Given the description of an element on the screen output the (x, y) to click on. 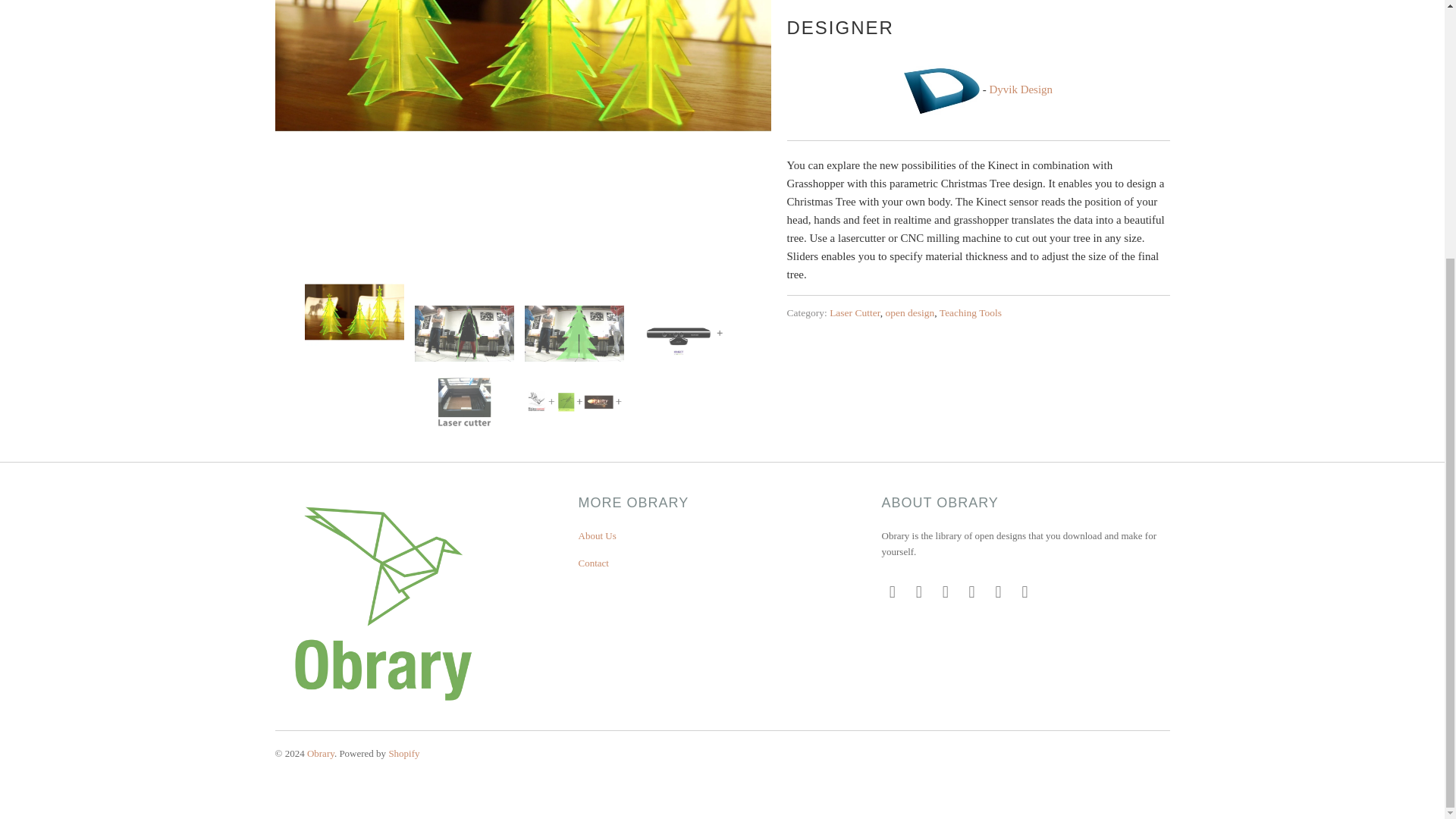
Teaching Tools (970, 312)
open design (909, 312)
Obrary on Pinterest (972, 592)
Obrary on Facebook (918, 592)
About Us (596, 535)
Email Obrary (1024, 592)
Laser Cutter (854, 312)
Dyvik Design (1020, 89)
Products tagged Laser Cutter (854, 312)
Contact (593, 562)
